Given the description of an element on the screen output the (x, y) to click on. 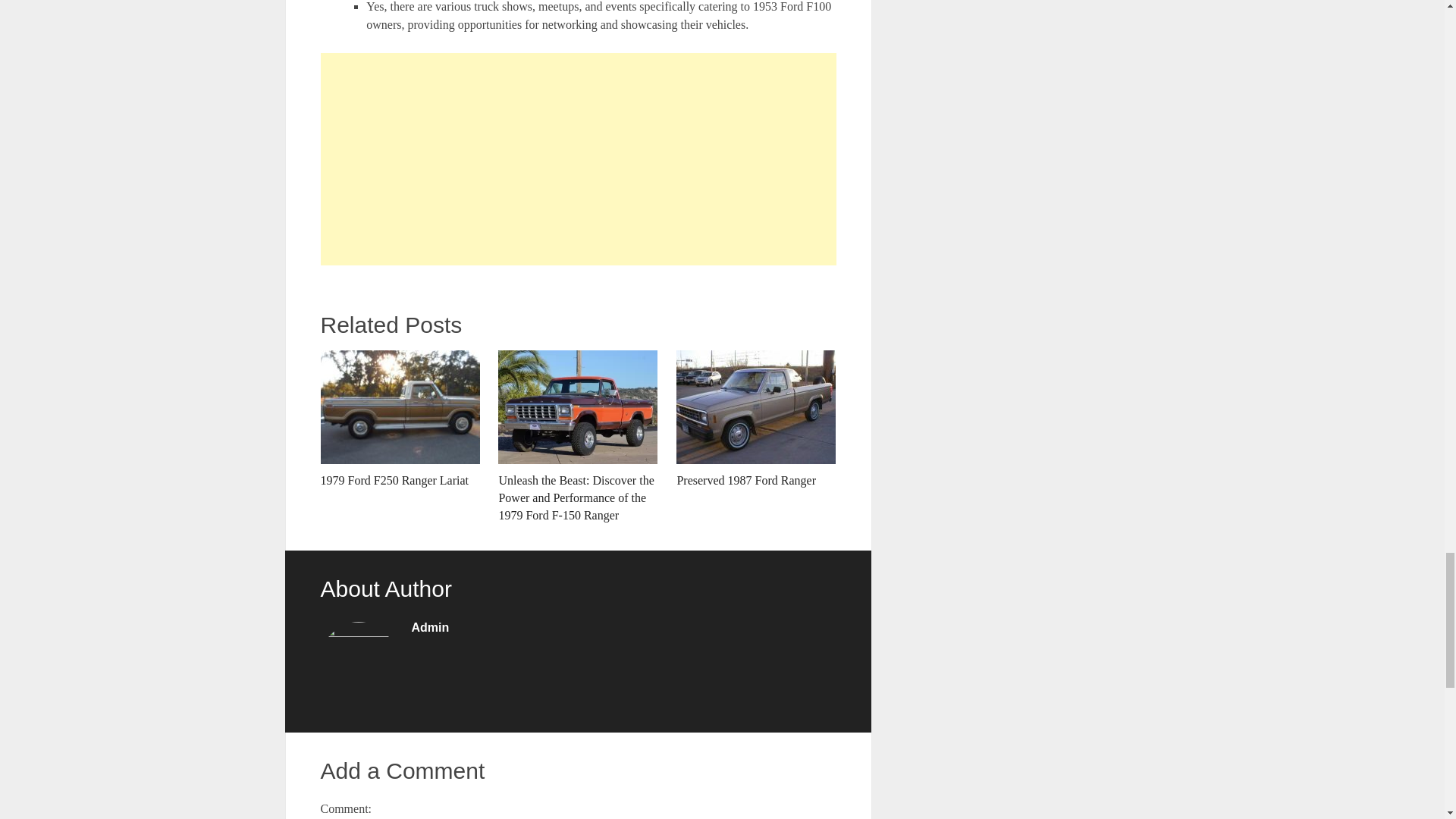
Preserved 1987 Ford Ranger (756, 419)
Preserved 1987 Ford Ranger (756, 419)
1979 Ford F250 Ranger Lariat (399, 419)
1979 Ford F250 Ranger Lariat (399, 419)
